Given the description of an element on the screen output the (x, y) to click on. 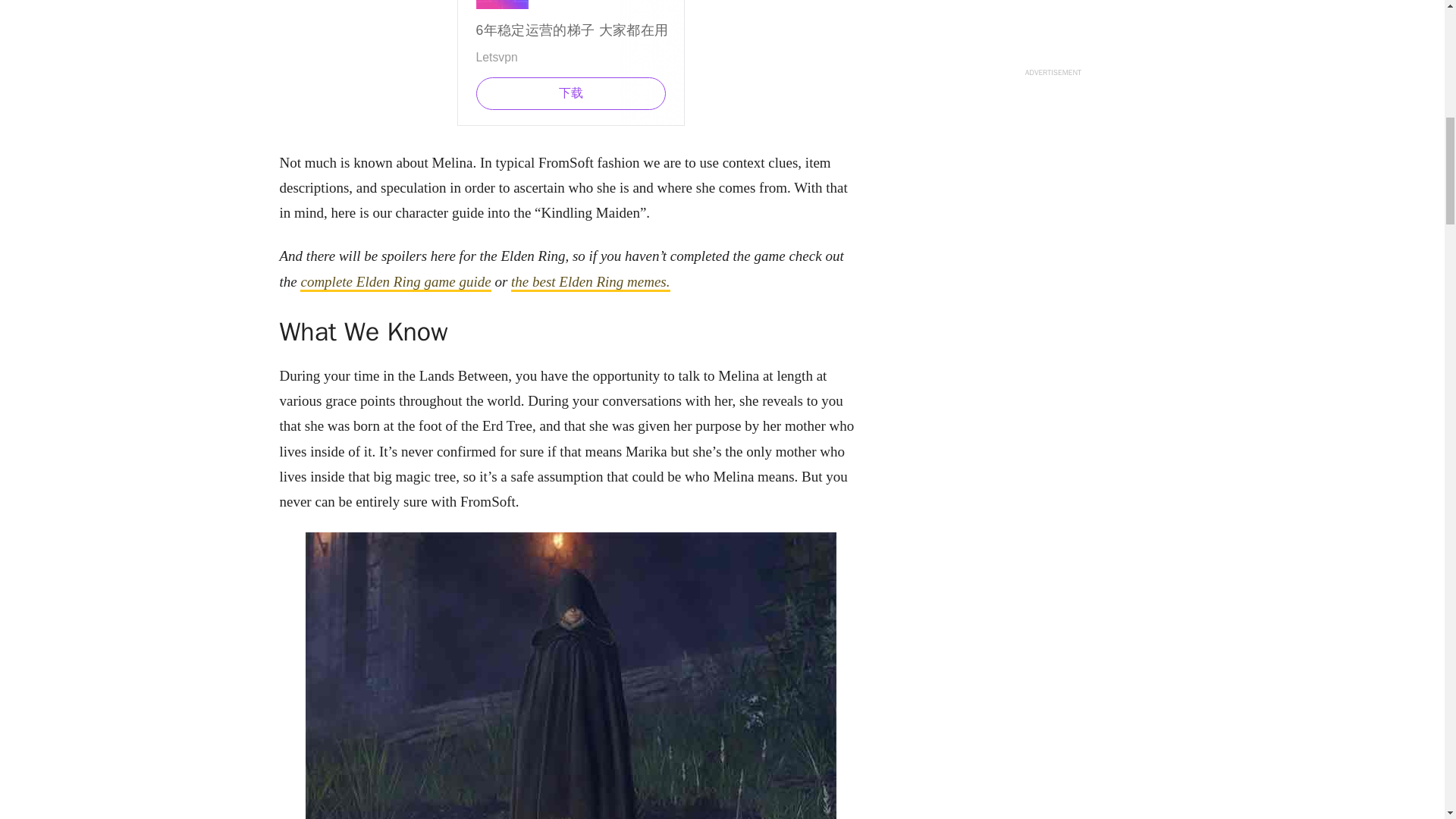
the best Elden Ring memes. (590, 281)
complete Elden Ring game guide (394, 281)
Advertisement (570, 63)
